Given the description of an element on the screen output the (x, y) to click on. 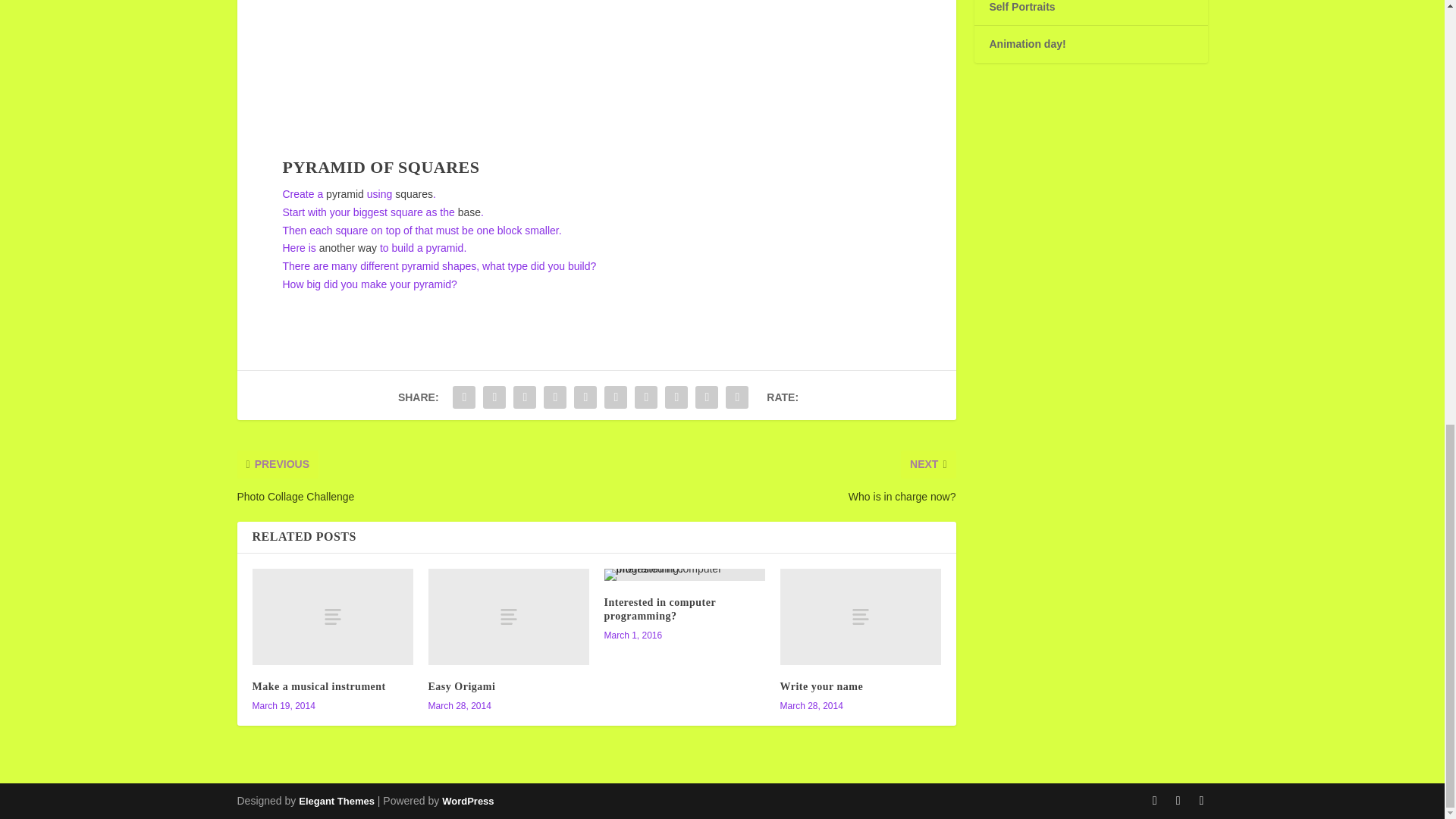
Easy Origami (461, 686)
Share "Minecraft Missions: Mathursday" via Pinterest (584, 397)
Share "Minecraft Missions: Mathursday" via LinkedIn (614, 397)
Write your name (859, 616)
Easy Origami (508, 616)
Share "Minecraft Missions: Mathursday" via Twitter (494, 397)
Share "Minecraft Missions: Mathursday" via Stumbleupon (676, 397)
Share "Minecraft Missions: Mathursday" via Email (706, 397)
base (469, 212)
Write your name (820, 686)
